Given the description of an element on the screen output the (x, y) to click on. 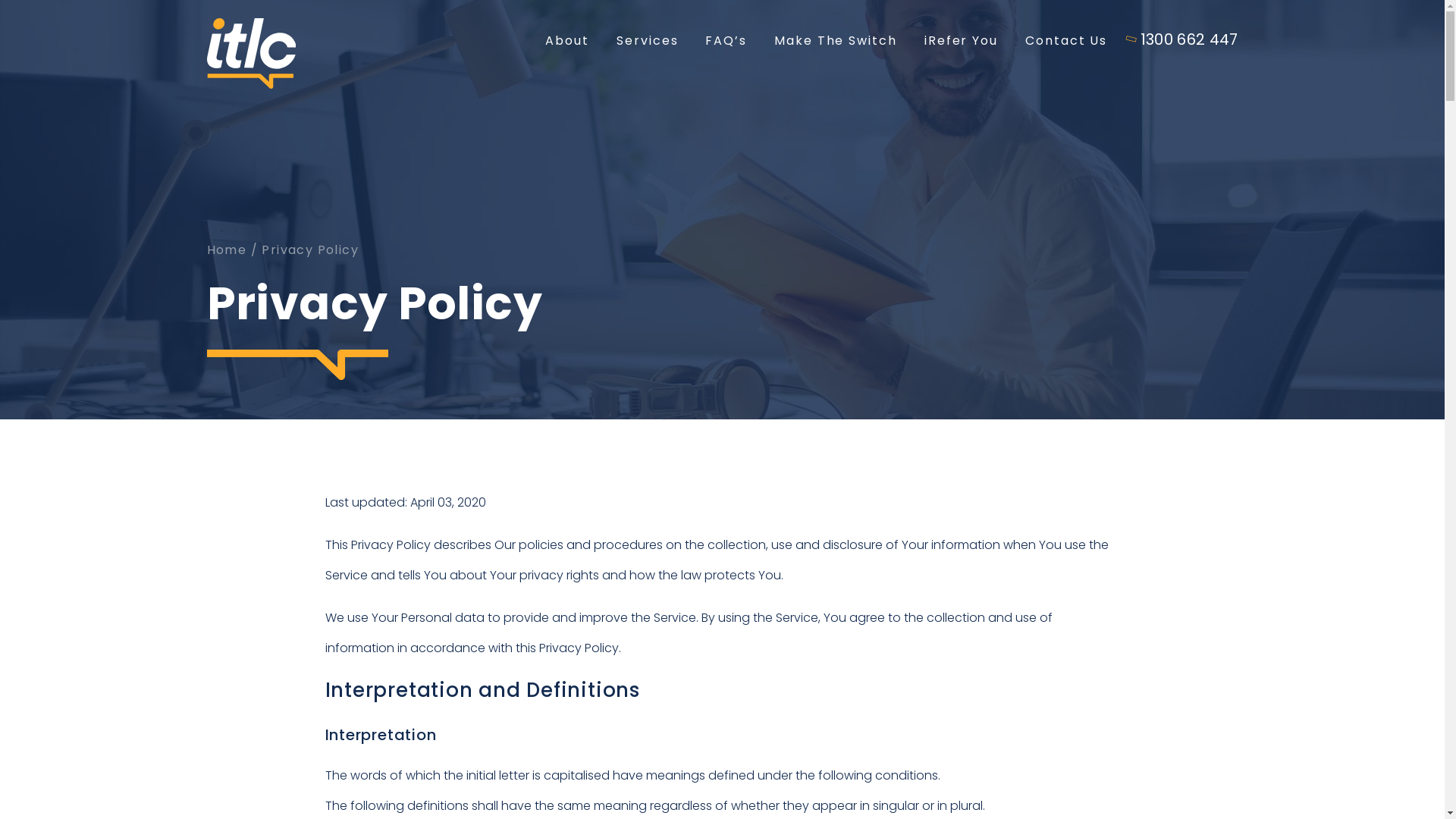
1300 662 447 Element type: text (1182, 39)
Services Element type: text (646, 43)
About Element type: text (567, 43)
Make The Switch Element type: text (835, 43)
Home Element type: text (226, 249)
Contact Us Element type: text (1066, 43)
iRefer You Element type: text (960, 43)
